Given the description of an element on the screen output the (x, y) to click on. 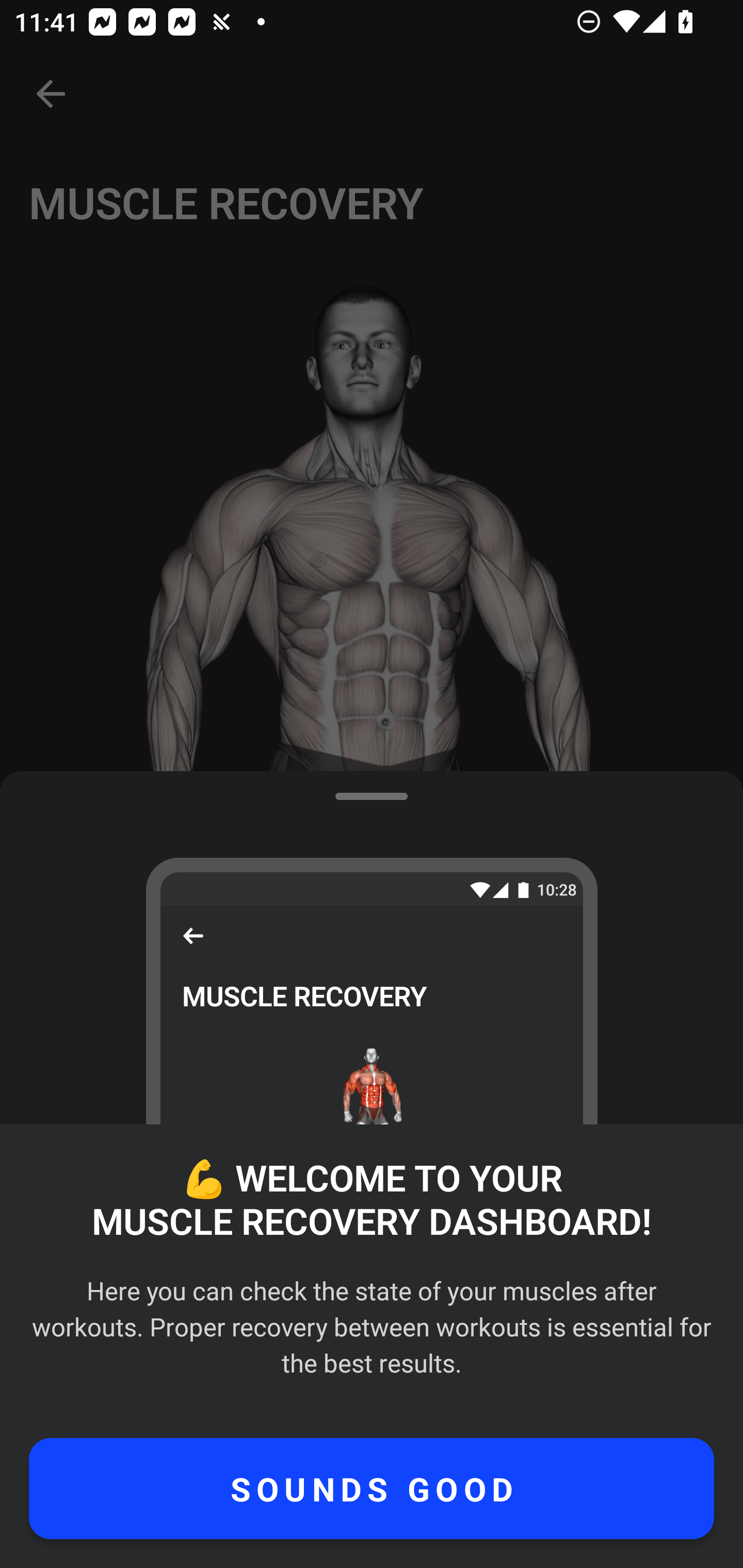
Close sheet (371, 385)
SOUNDS GOOD (371, 1488)
